Given the description of an element on the screen output the (x, y) to click on. 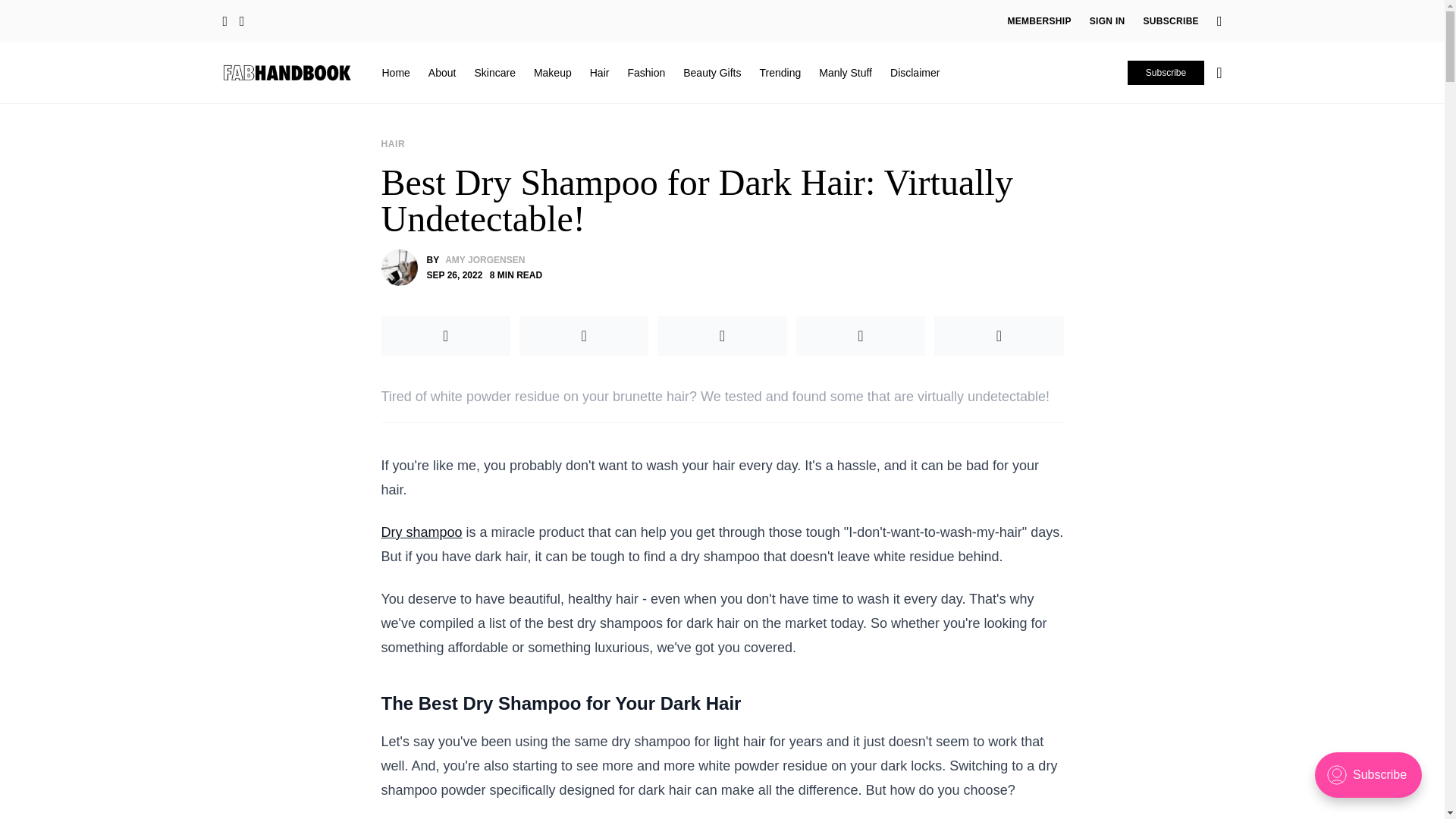
Skincare (494, 72)
Makeup (553, 72)
MEMBERSHIP (1038, 21)
Fashion (646, 72)
SIGN IN (1107, 21)
SUBSCRIBE (1170, 21)
Beauty Gifts (711, 72)
Home (395, 72)
Trending (779, 72)
Hair (599, 72)
About (442, 72)
